Given the description of an element on the screen output the (x, y) to click on. 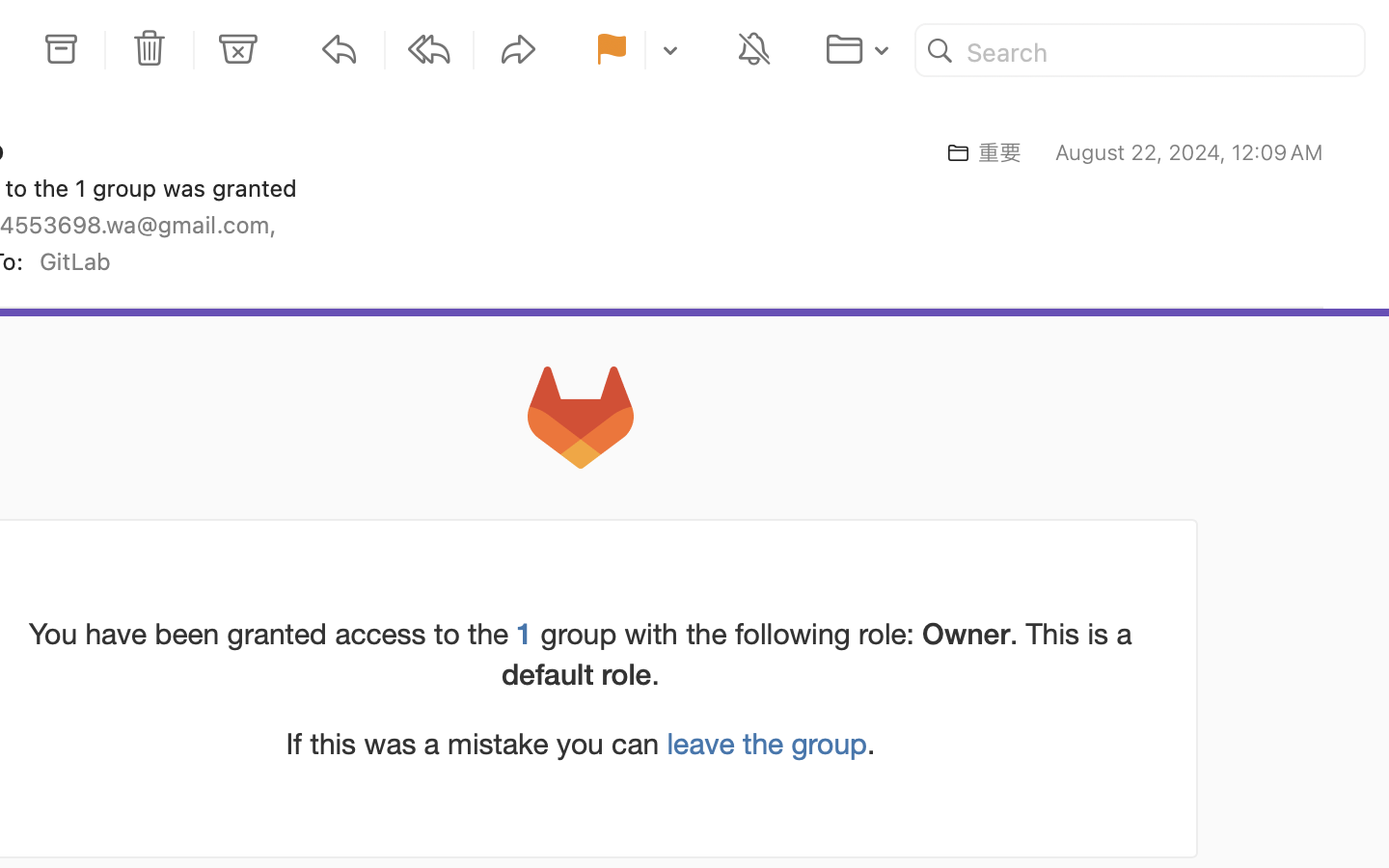
August 22, 2024, 12:09 AM Element type: AXStaticText (1189, 151)
1 Element type: AXStaticText (524, 632)
default role Element type: AXStaticText (576, 672)
You have been granted access to the Element type: AXStaticText (272, 633)
￼重要 Element type: AXStaticText (977, 151)
